Given the description of an element on the screen output the (x, y) to click on. 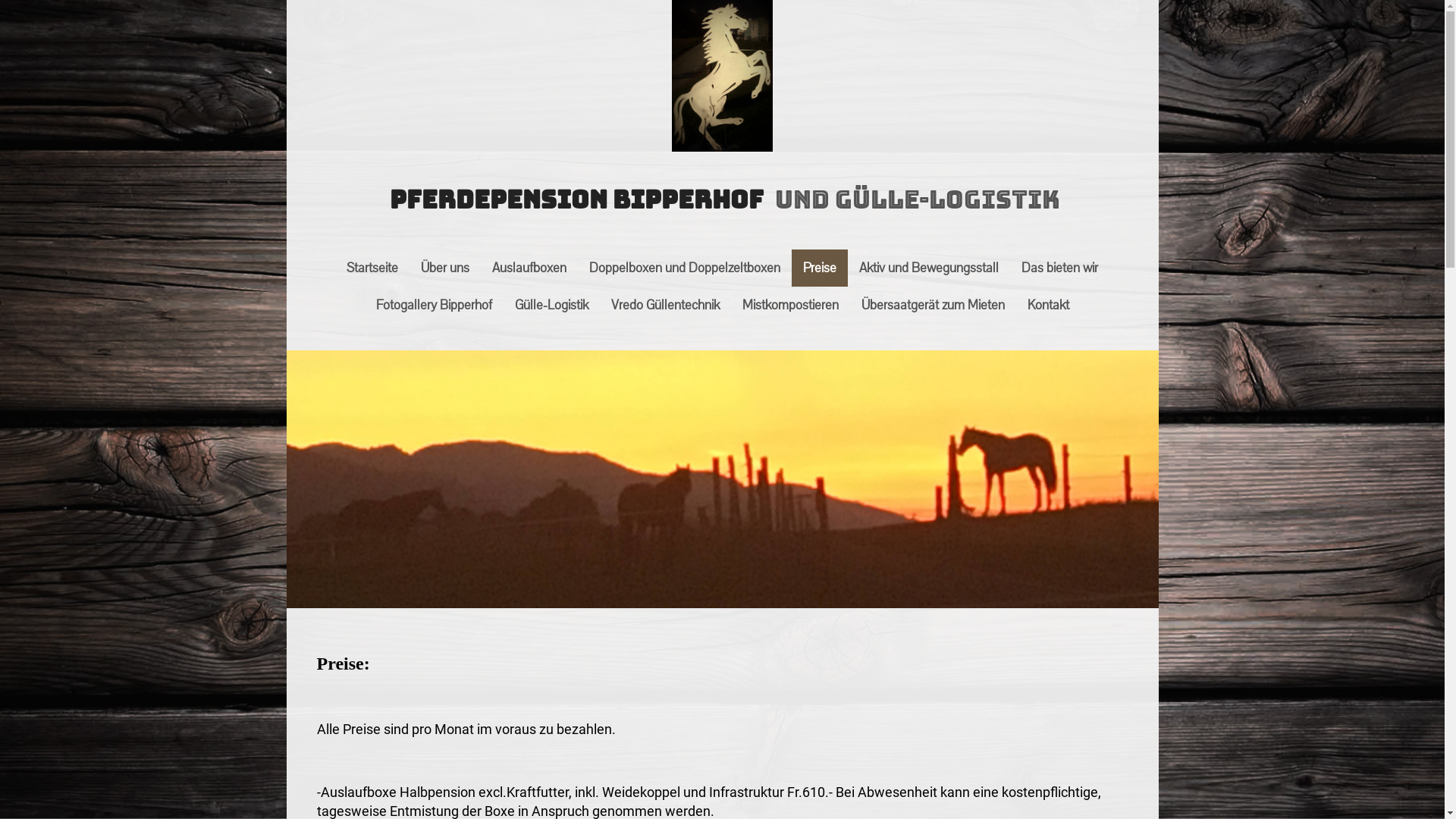
Mistkompostieren Element type: text (790, 304)
Kontakt Element type: text (1048, 304)
Startseite Element type: text (372, 267)
Aktiv und Bewegungsstall Element type: text (928, 267)
Preise Element type: text (819, 267)
Auslaufboxen Element type: text (528, 267)
Fotogallery Bipperhof Element type: text (433, 304)
Doppelboxen und Doppelzeltboxen Element type: text (684, 267)
Das bieten wir Element type: text (1059, 267)
